Given the description of an element on the screen output the (x, y) to click on. 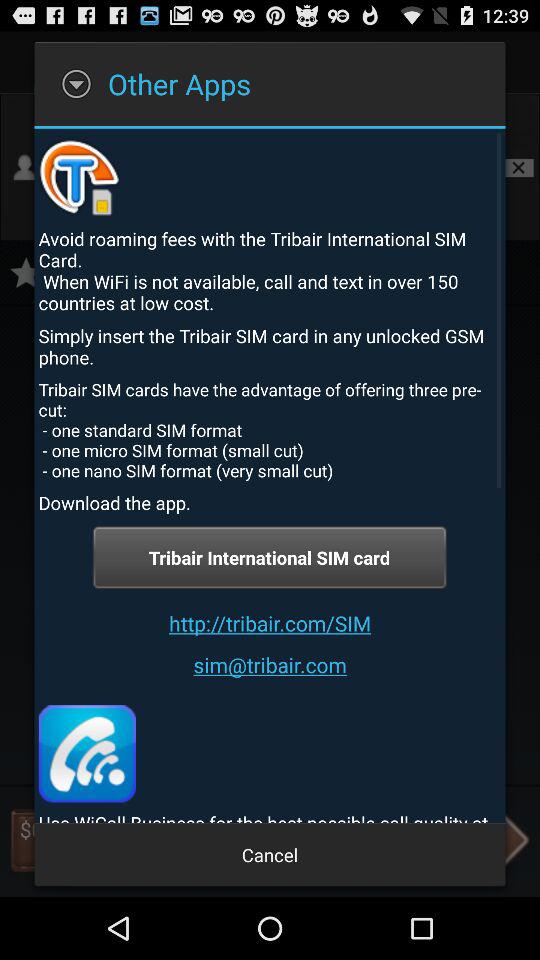
click icon below the sim@tribair.com (86, 753)
